Given the description of an element on the screen output the (x, y) to click on. 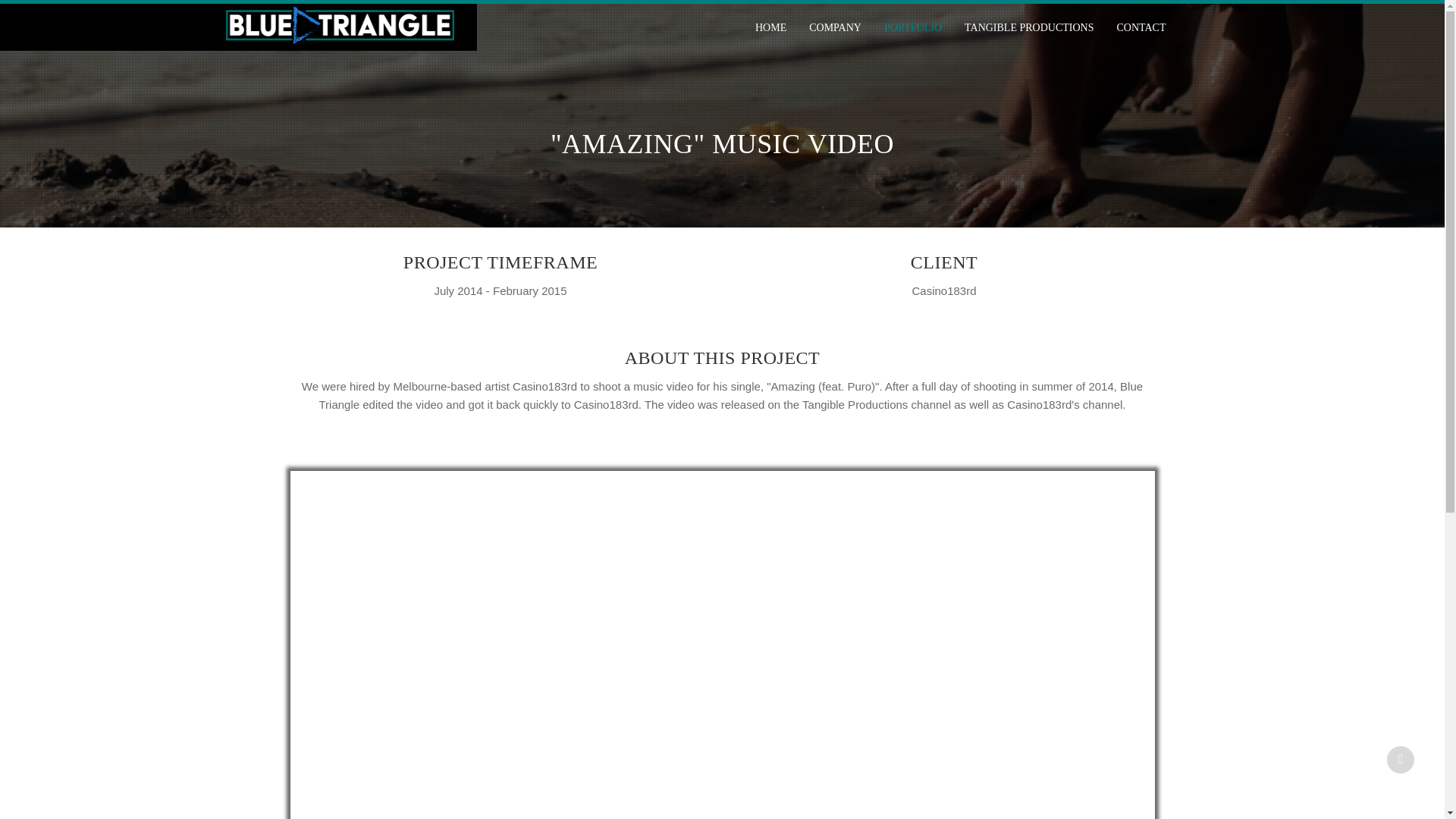
CONTACT (1135, 27)
TANGIBLE PRODUCTIONS (1029, 27)
HOME (770, 27)
PORTFOLIO (912, 27)
COMPANY (834, 27)
Back to Top (1400, 759)
